Given the description of an element on the screen output the (x, y) to click on. 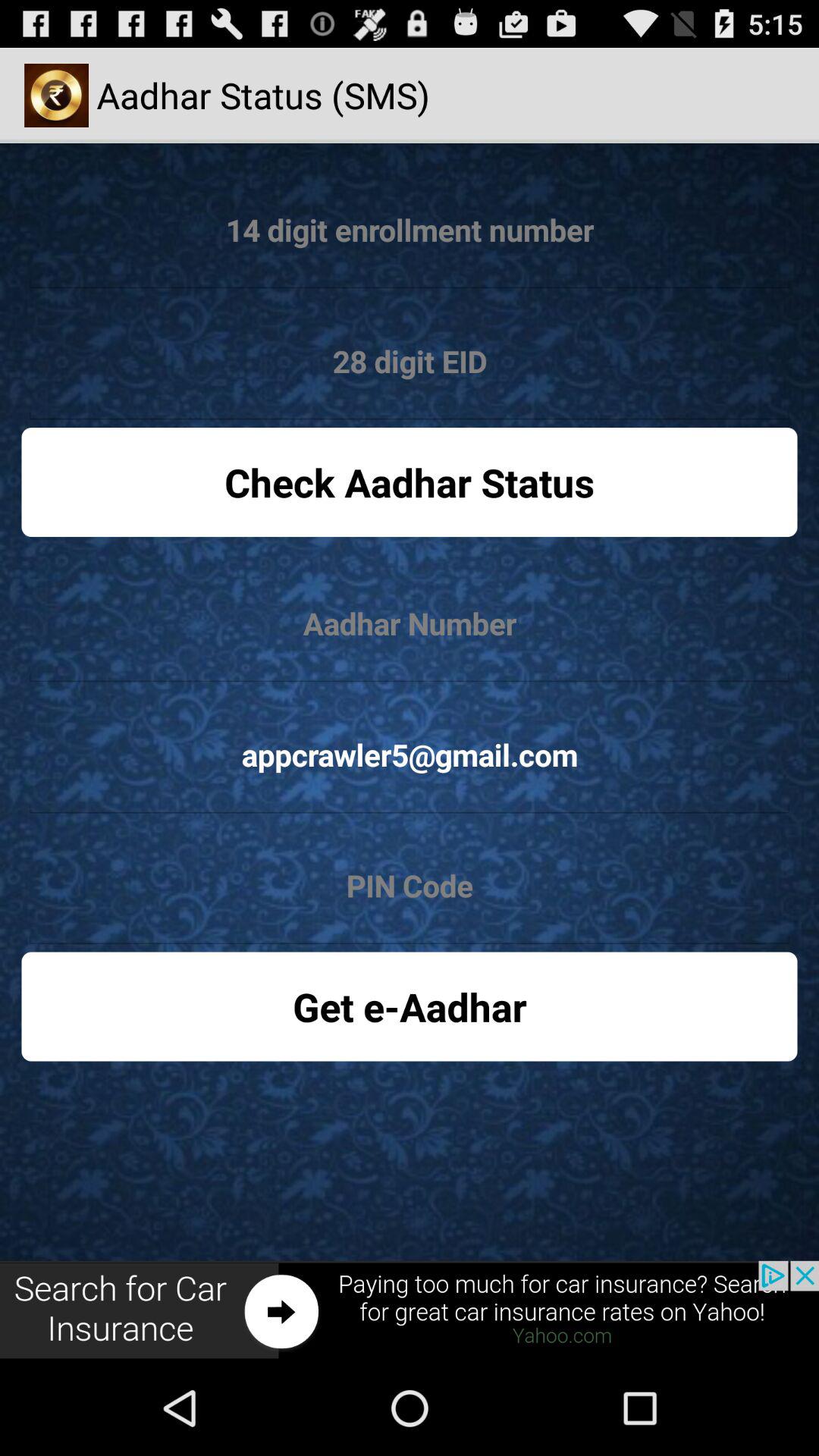
enter 28 digit code (409, 361)
